Given the description of an element on the screen output the (x, y) to click on. 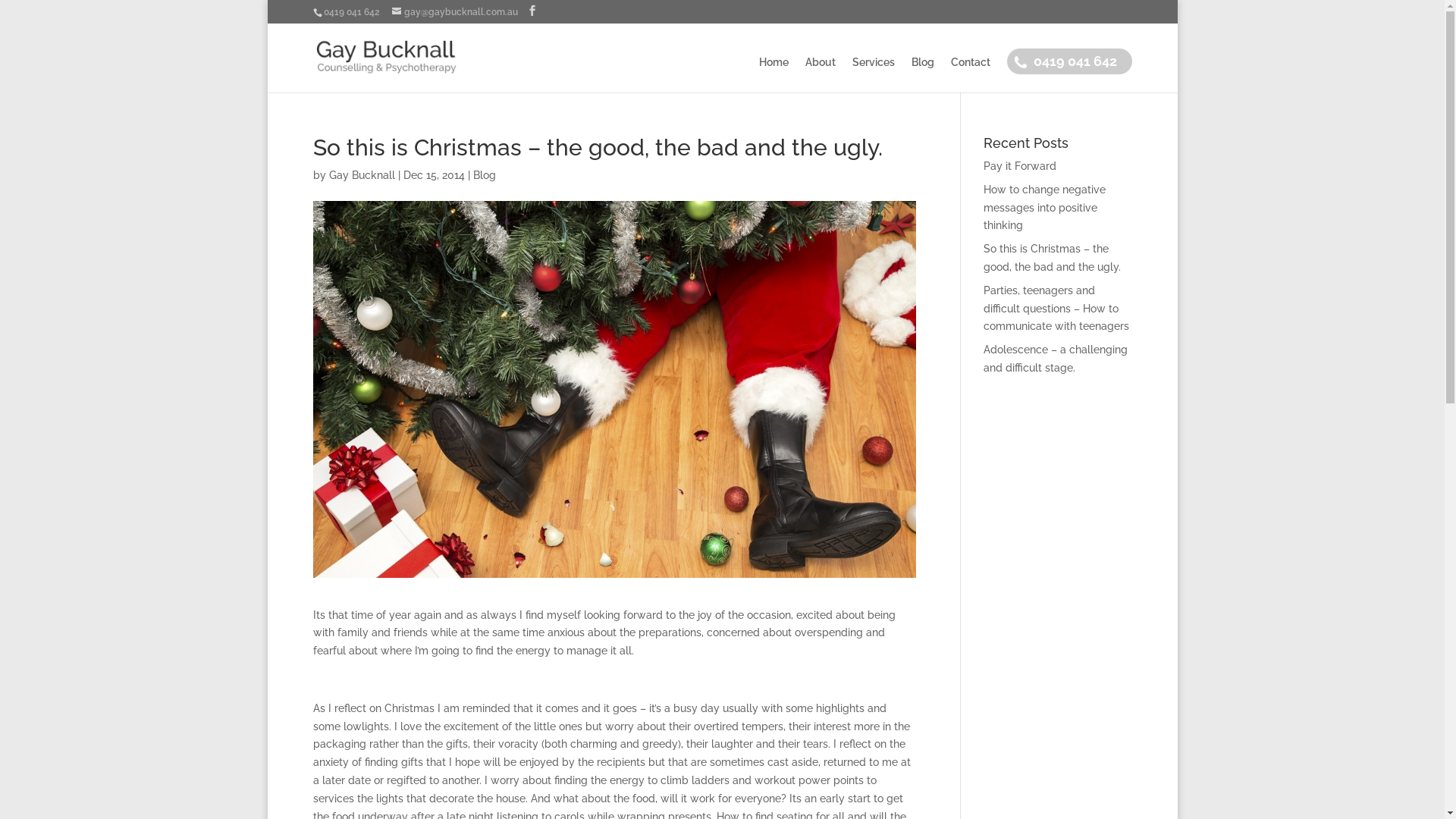
About Element type: text (820, 74)
Home Element type: text (772, 74)
0419 041 642 Element type: text (1074, 73)
Gay Bucknall Element type: text (362, 175)
Contact Element type: text (970, 74)
gay@gaybucknall.com.au Element type: text (454, 11)
How to change negative messages into positive thinking Element type: text (1044, 207)
Pay it Forward Element type: text (1019, 166)
Blog Element type: text (922, 74)
Blog Element type: text (484, 175)
Services Element type: text (873, 74)
